Given the description of an element on the screen output the (x, y) to click on. 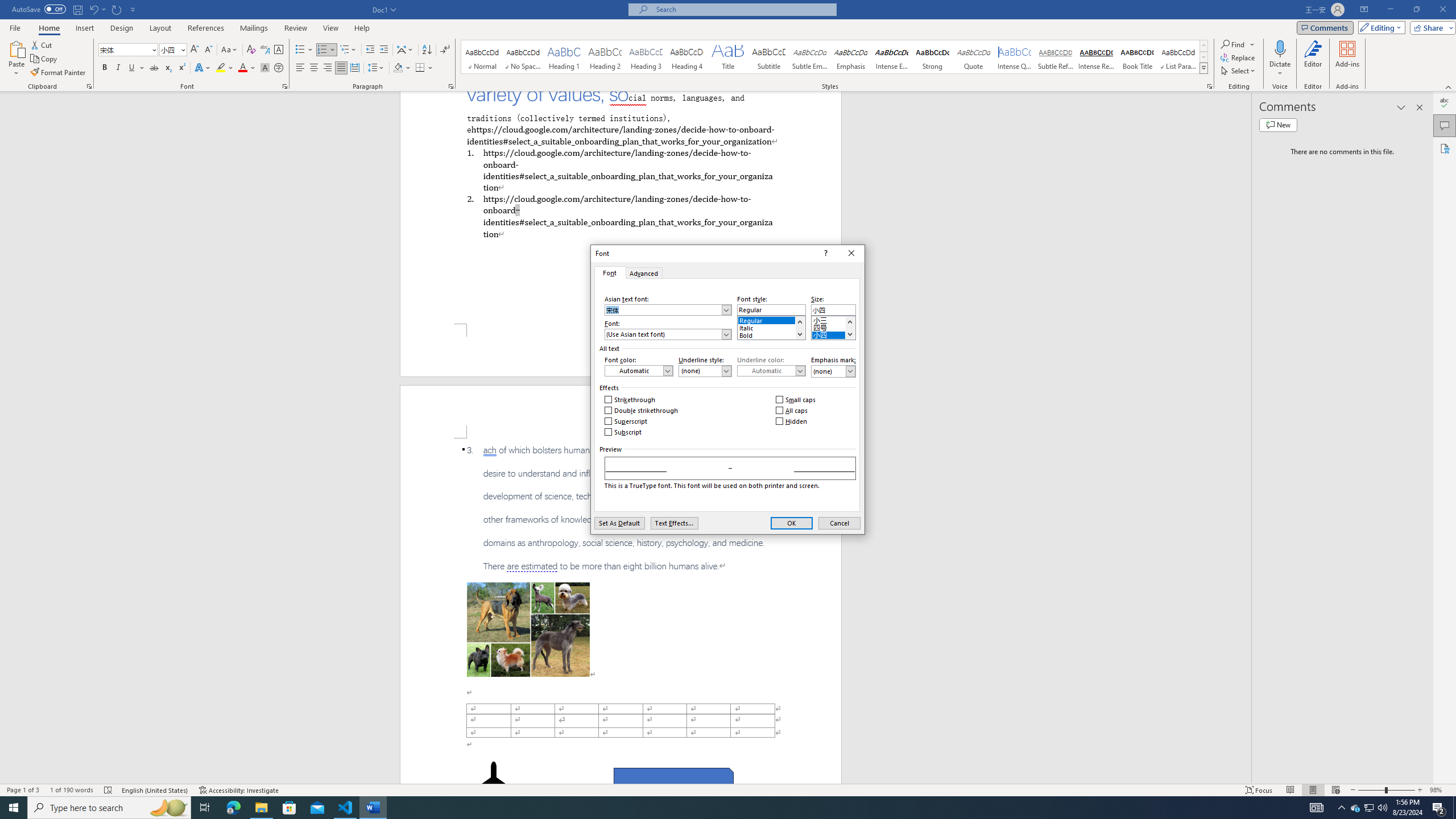
Subtle Emphasis (809, 56)
Subscript (623, 431)
Superscript (626, 420)
Mailings (253, 28)
Row Down (1203, 56)
Heading 4 (686, 56)
Underline style: (705, 370)
Numbering (326, 49)
Find (1237, 44)
Align Left (300, 67)
Book Title (1136, 56)
2. (620, 216)
Focus  (1258, 790)
Bold (104, 67)
